Given the description of an element on the screen output the (x, y) to click on. 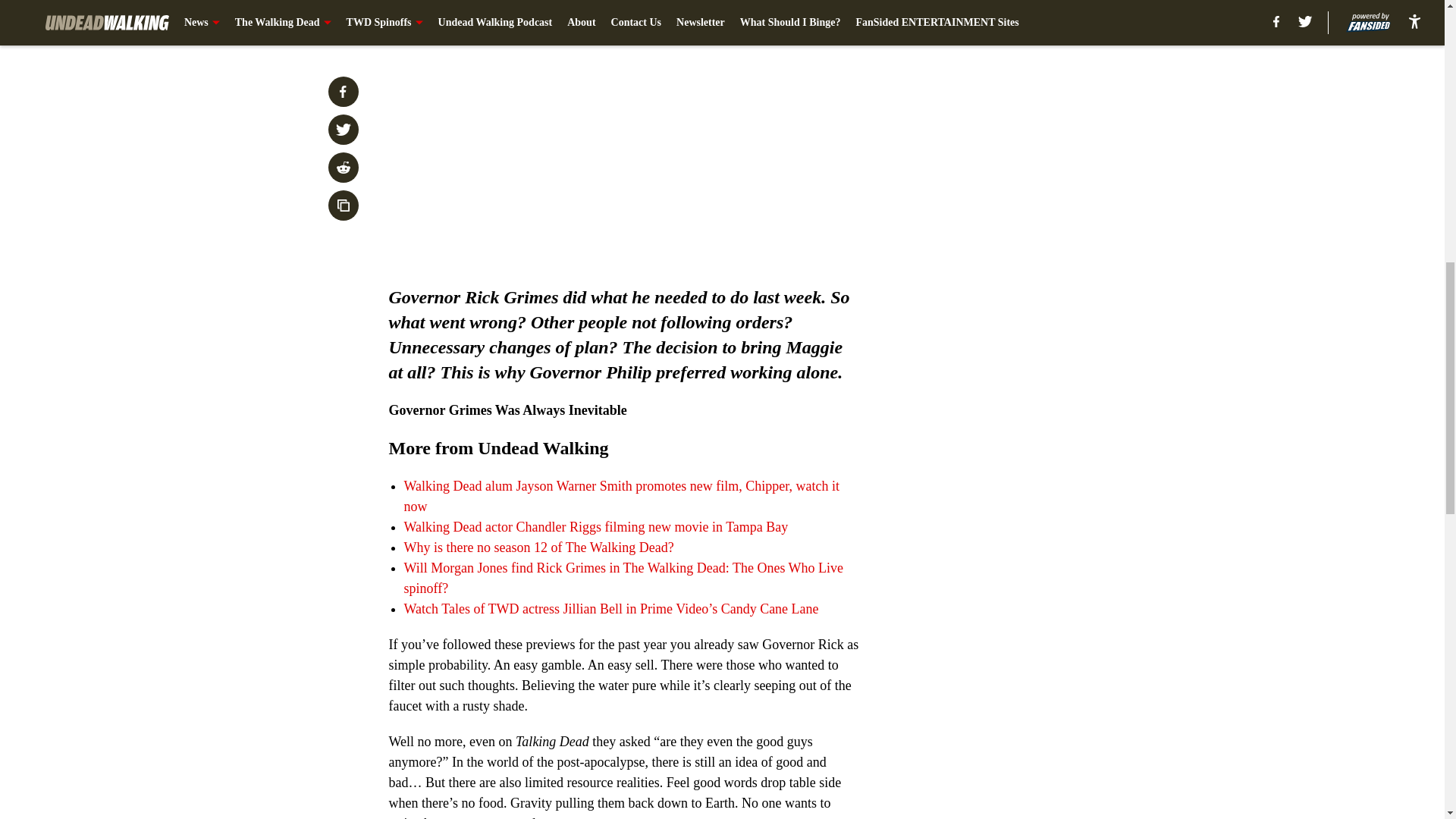
Why is there no season 12 of The Walking Dead? (537, 547)
